Given the description of an element on the screen output the (x, y) to click on. 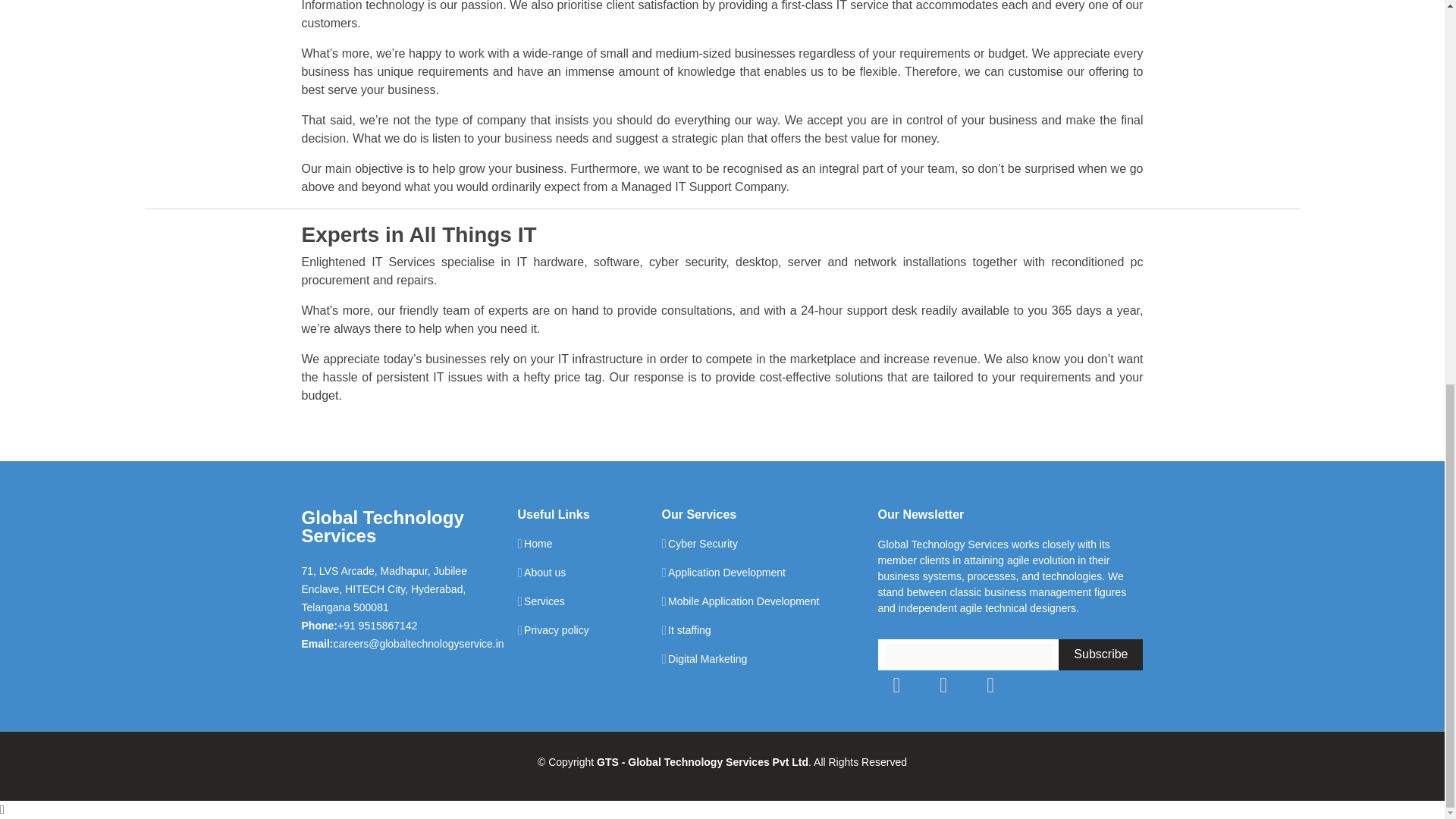
Services (544, 601)
Digital Marketing (707, 658)
Application Development (727, 572)
Subscribe (1100, 654)
Home (537, 543)
Subscribe (1100, 654)
It staffing (689, 629)
Cyber Security (703, 543)
Privacy policy (556, 629)
About us (545, 572)
Mobile Application Development (743, 601)
